Given the description of an element on the screen output the (x, y) to click on. 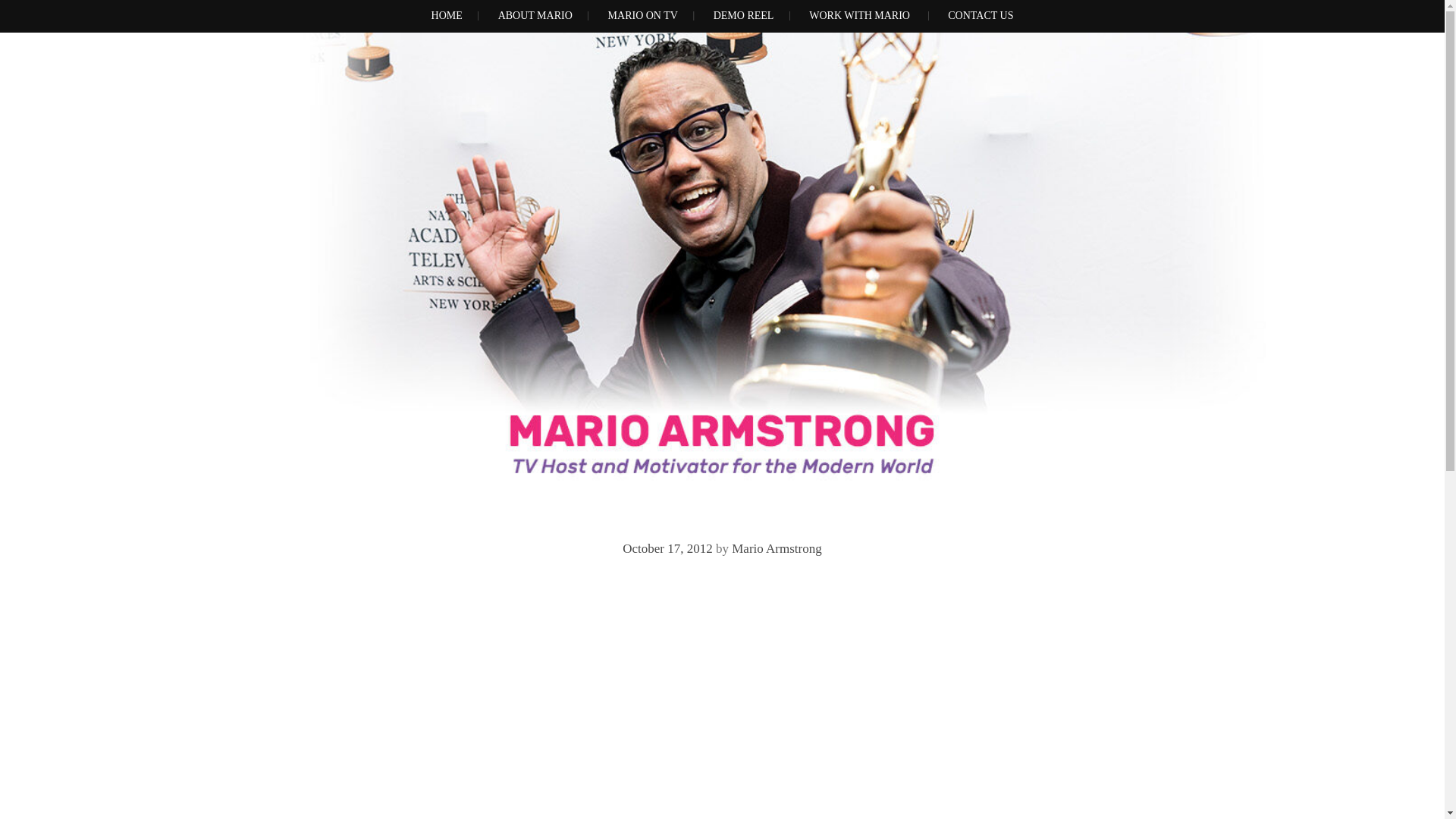
HOME (446, 16)
Mario Armstrong (777, 548)
CONTACT US (980, 16)
DEMO REEL (743, 16)
MARIO ON TV (642, 16)
WORK WITH MARIO (859, 16)
ABOUT MARIO (534, 16)
October 17, 2012 (668, 548)
